Given the description of an element on the screen output the (x, y) to click on. 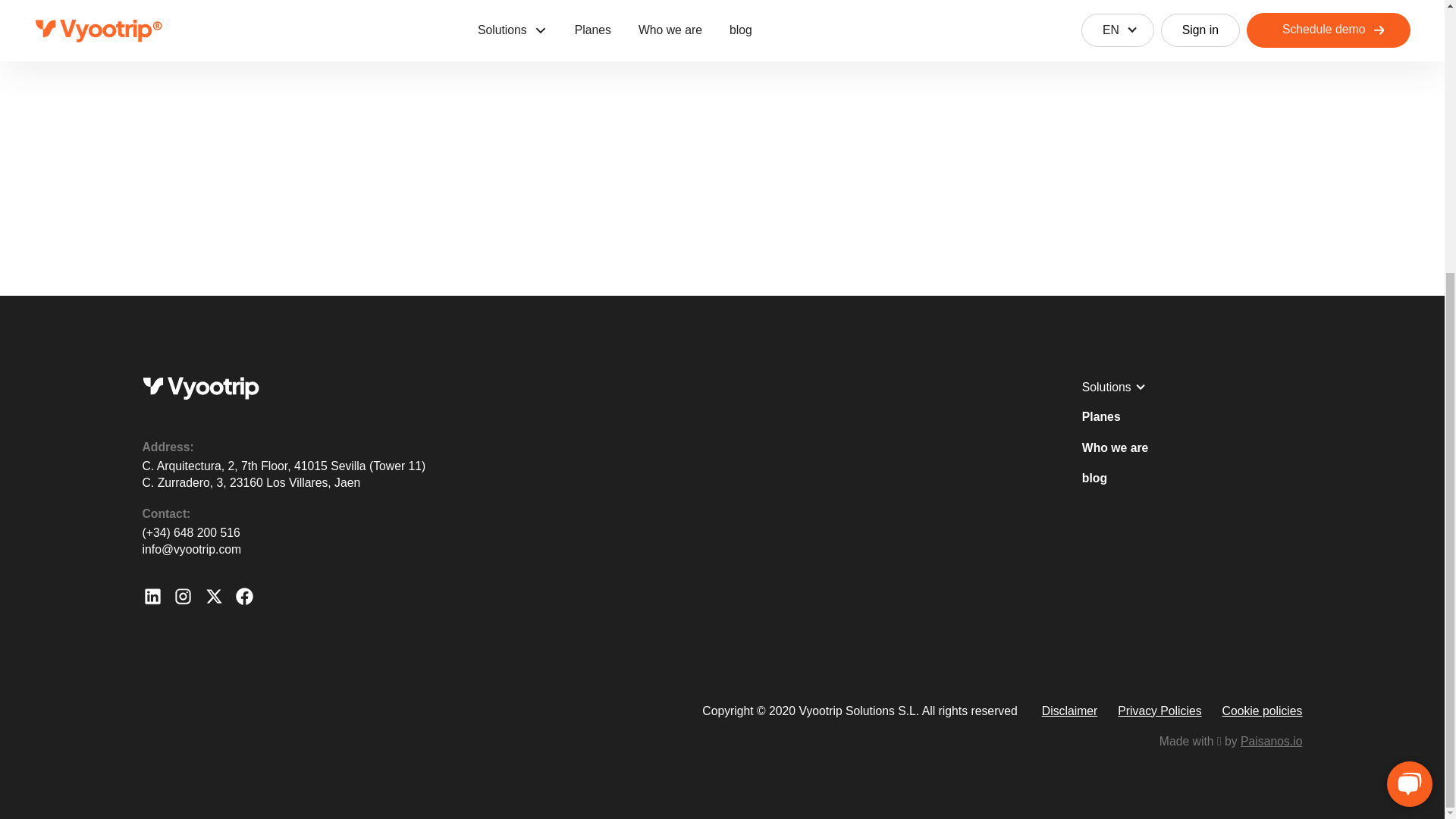
Cookie policies (1263, 711)
Volver (722, 13)
Paisanos.io (1270, 740)
Disclaimer (1069, 711)
Who we are (1114, 447)
Planes (1101, 417)
Privacy Policies (1159, 711)
